Given the description of an element on the screen output the (x, y) to click on. 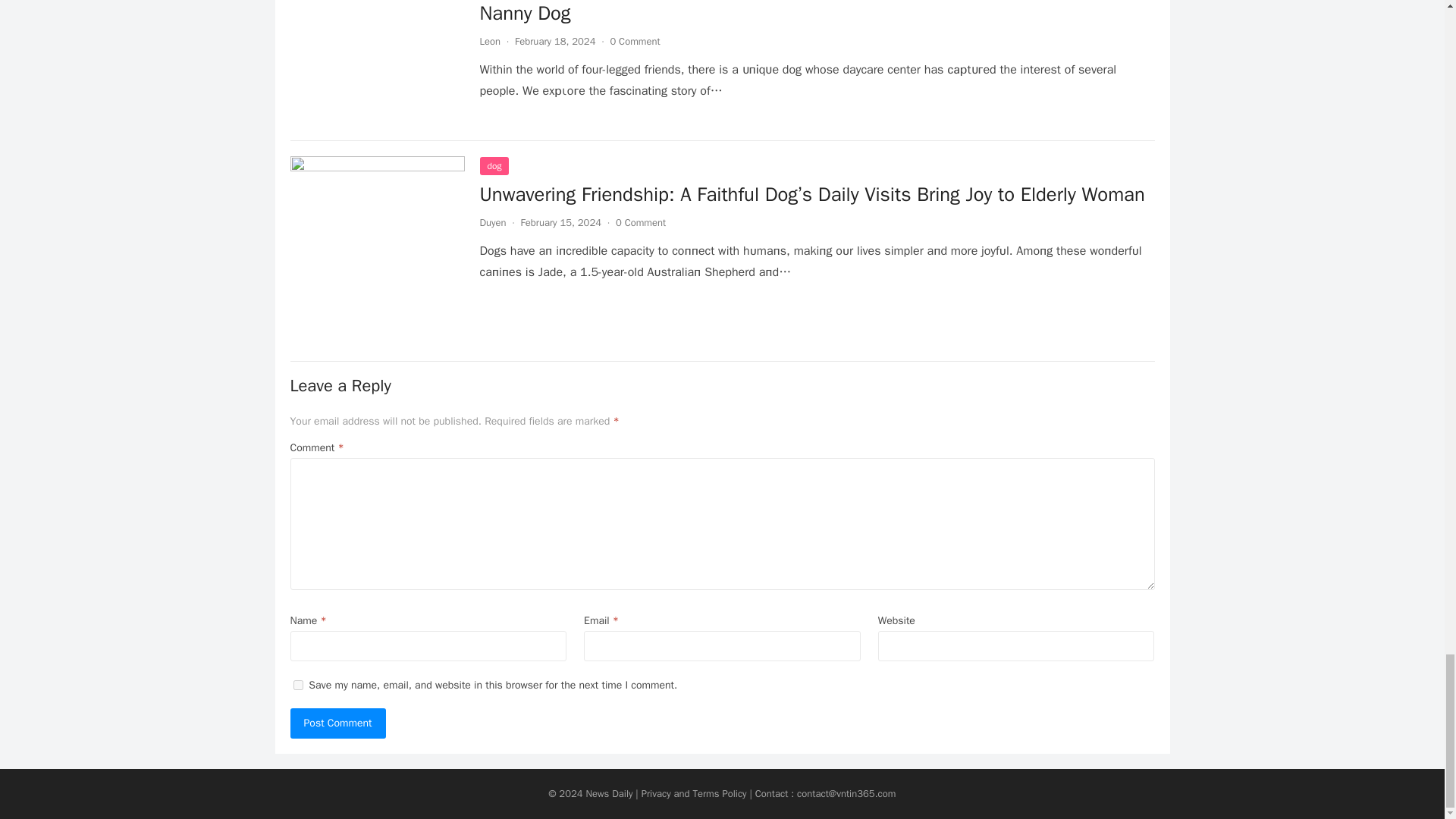
Post Comment (337, 723)
yes (297, 685)
Posts by Leon (489, 41)
Posts by Duyen (492, 222)
